Given the description of an element on the screen output the (x, y) to click on. 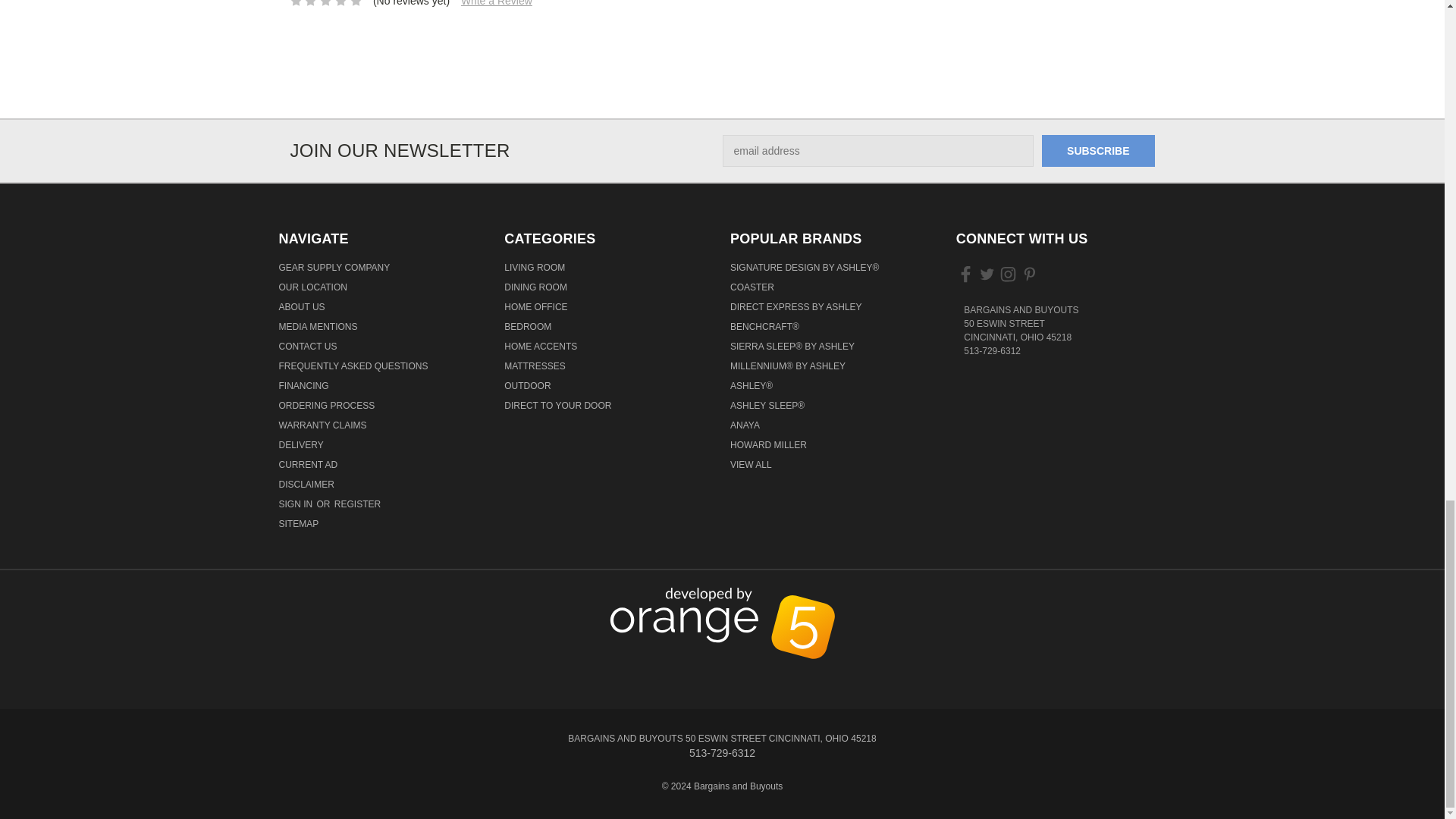
Subscribe (1098, 151)
